Given the description of an element on the screen output the (x, y) to click on. 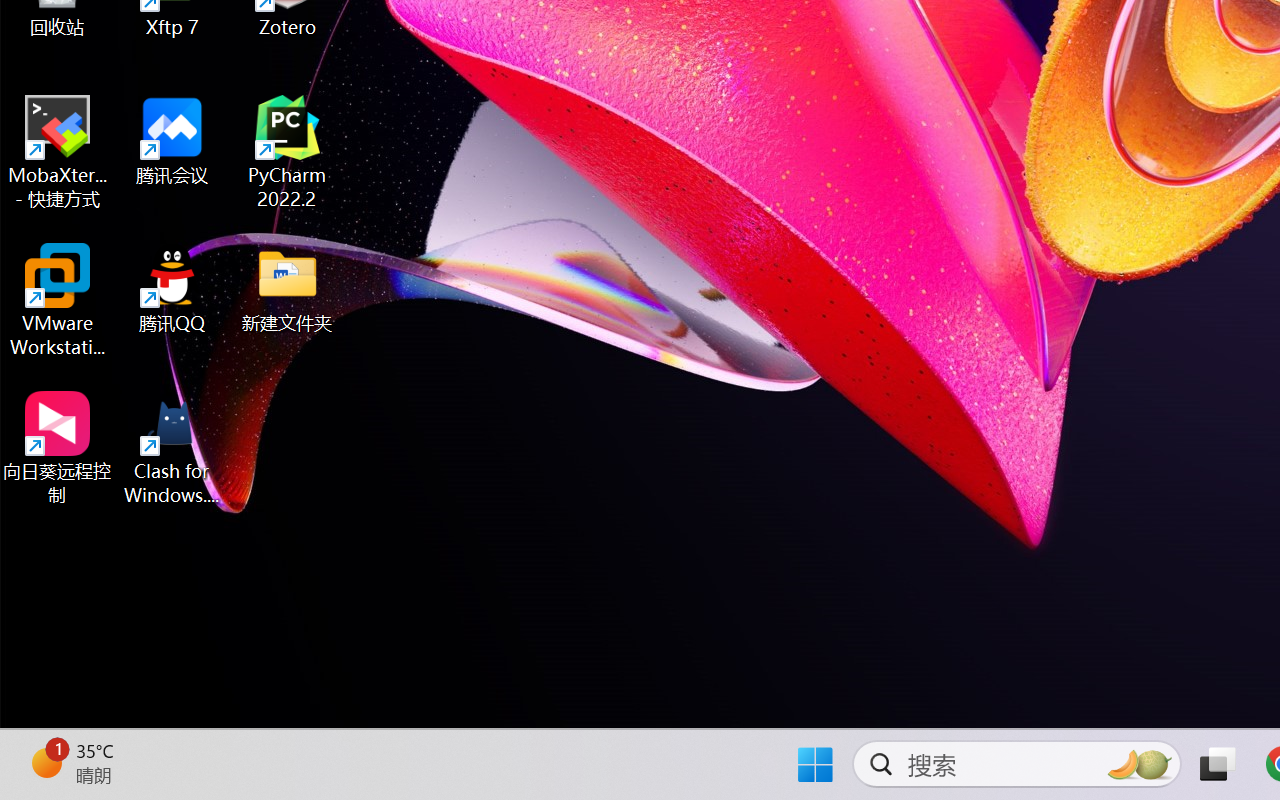
VMware Workstation Pro (57, 300)
PyCharm 2022.2 (287, 152)
